Given the description of an element on the screen output the (x, y) to click on. 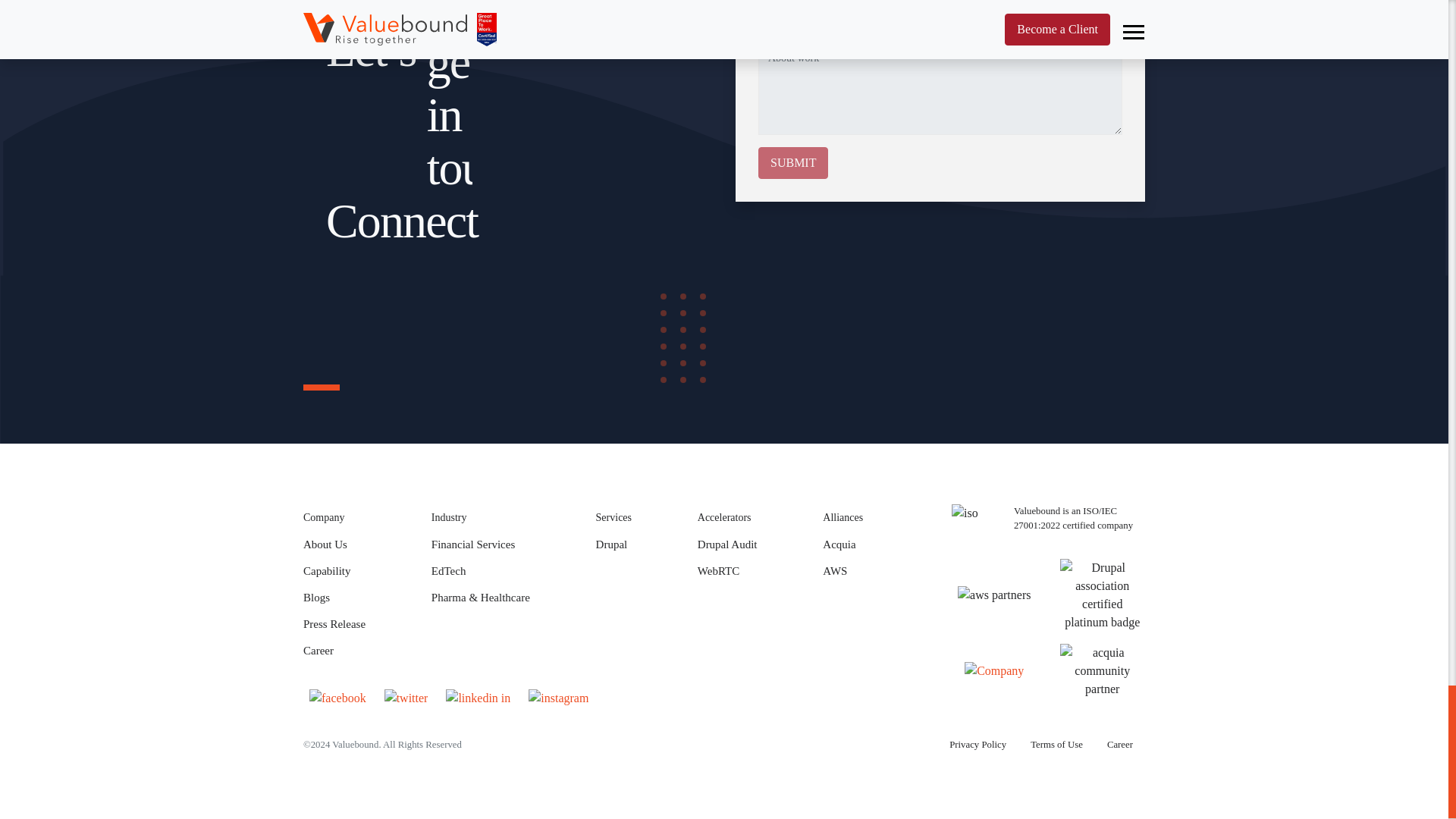
Drupal (613, 544)
iso (976, 525)
goodfirms Company (993, 670)
